Given the description of an element on the screen output the (x, y) to click on. 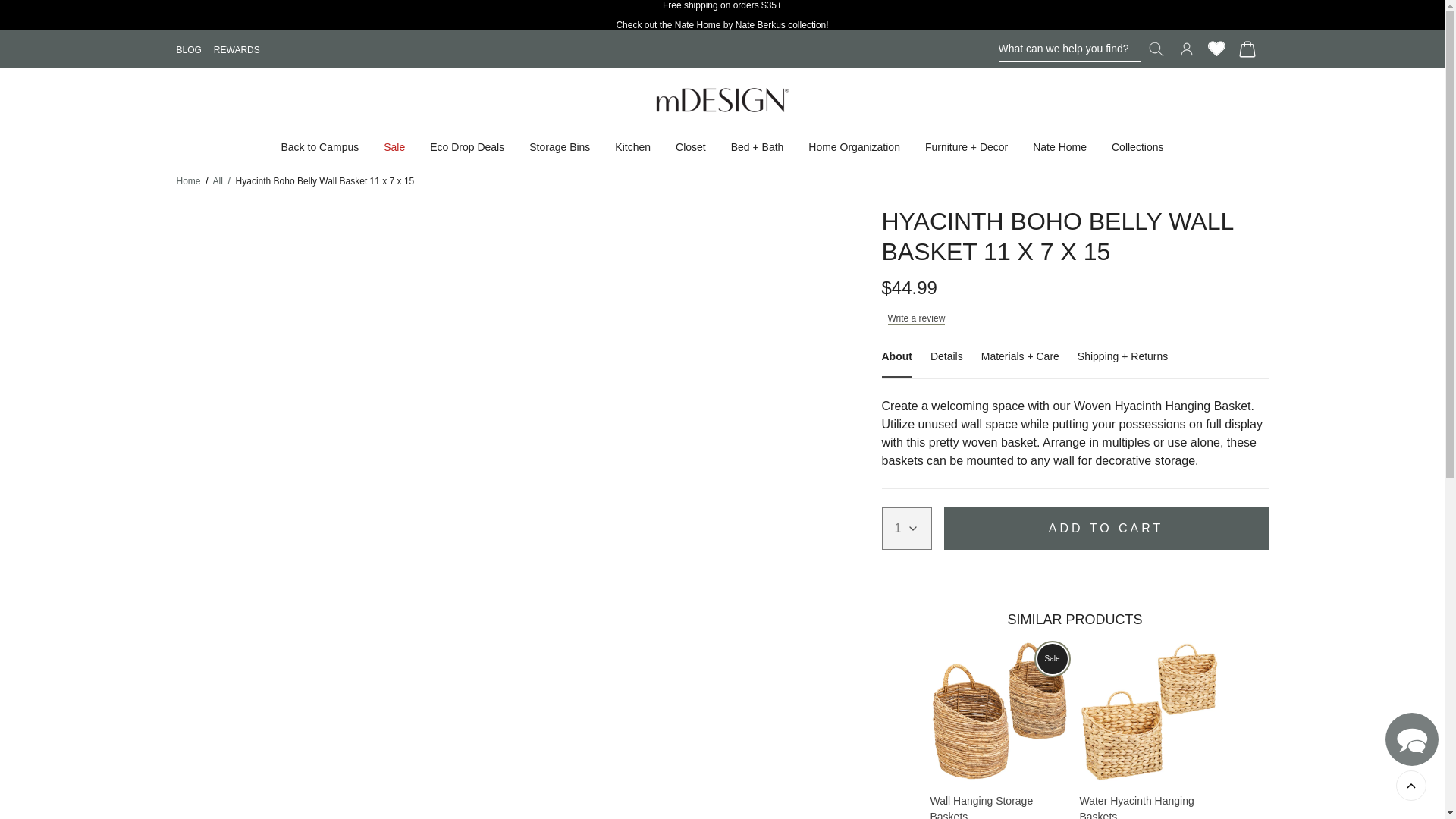
Rewards (1216, 49)
Sale (394, 146)
REWARDS (237, 49)
Cart (1246, 49)
Storage Bins (559, 146)
BLOG (188, 49)
Check out the Nate Home by Nate Berkus collection! (721, 24)
Eco Drop Deals (466, 146)
Back to Campus (319, 146)
Account (1185, 49)
